Given the description of an element on the screen output the (x, y) to click on. 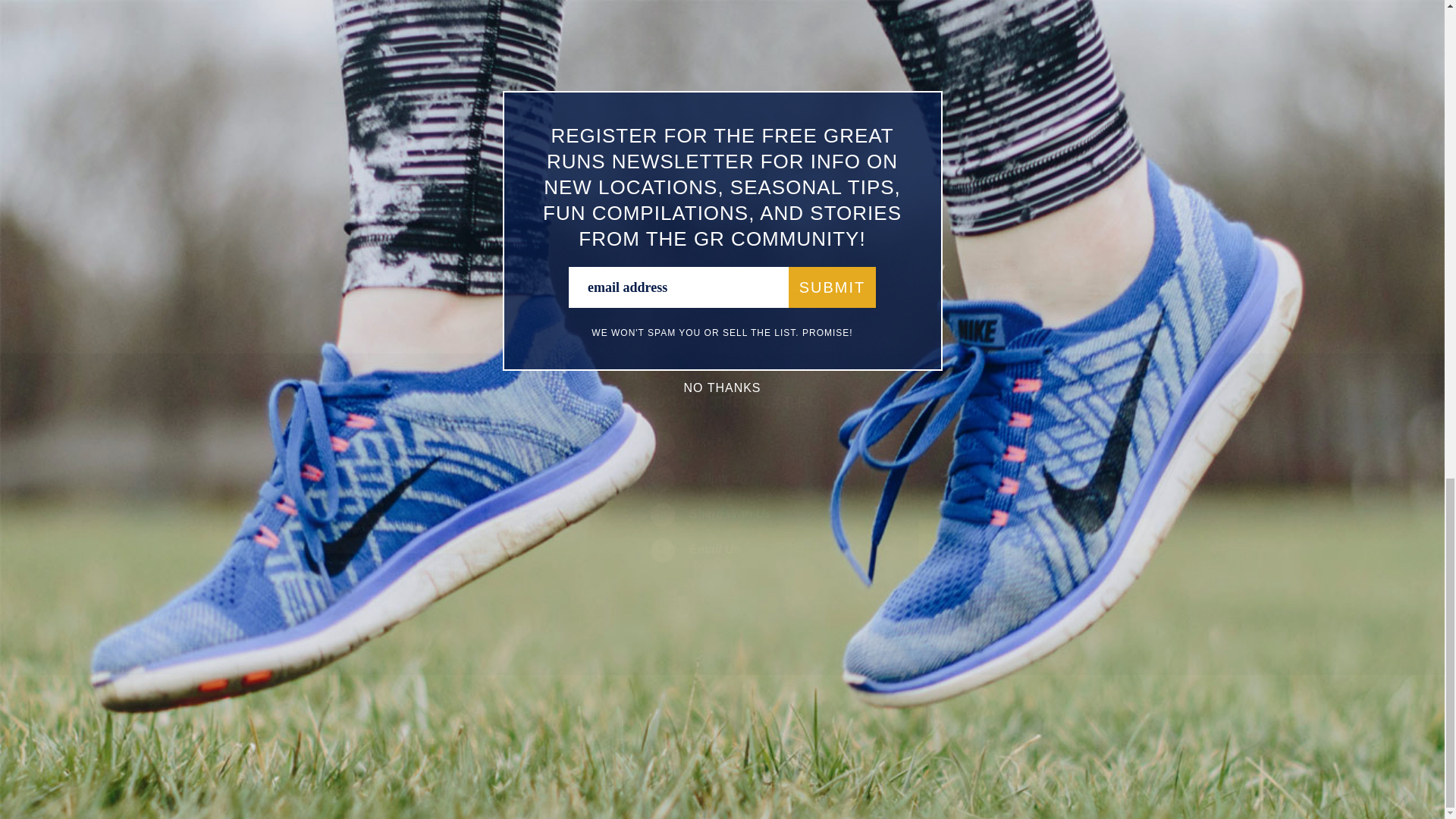
Spoiler (550, 35)
Submit (479, 532)
Code Block (488, 35)
Italic (360, 35)
Unordered List (446, 35)
Underline (382, 35)
Link (509, 35)
Strike (403, 35)
Blockquote (467, 35)
Bold (339, 35)
Ordered List (424, 35)
Source Code (528, 35)
